Given the description of an element on the screen output the (x, y) to click on. 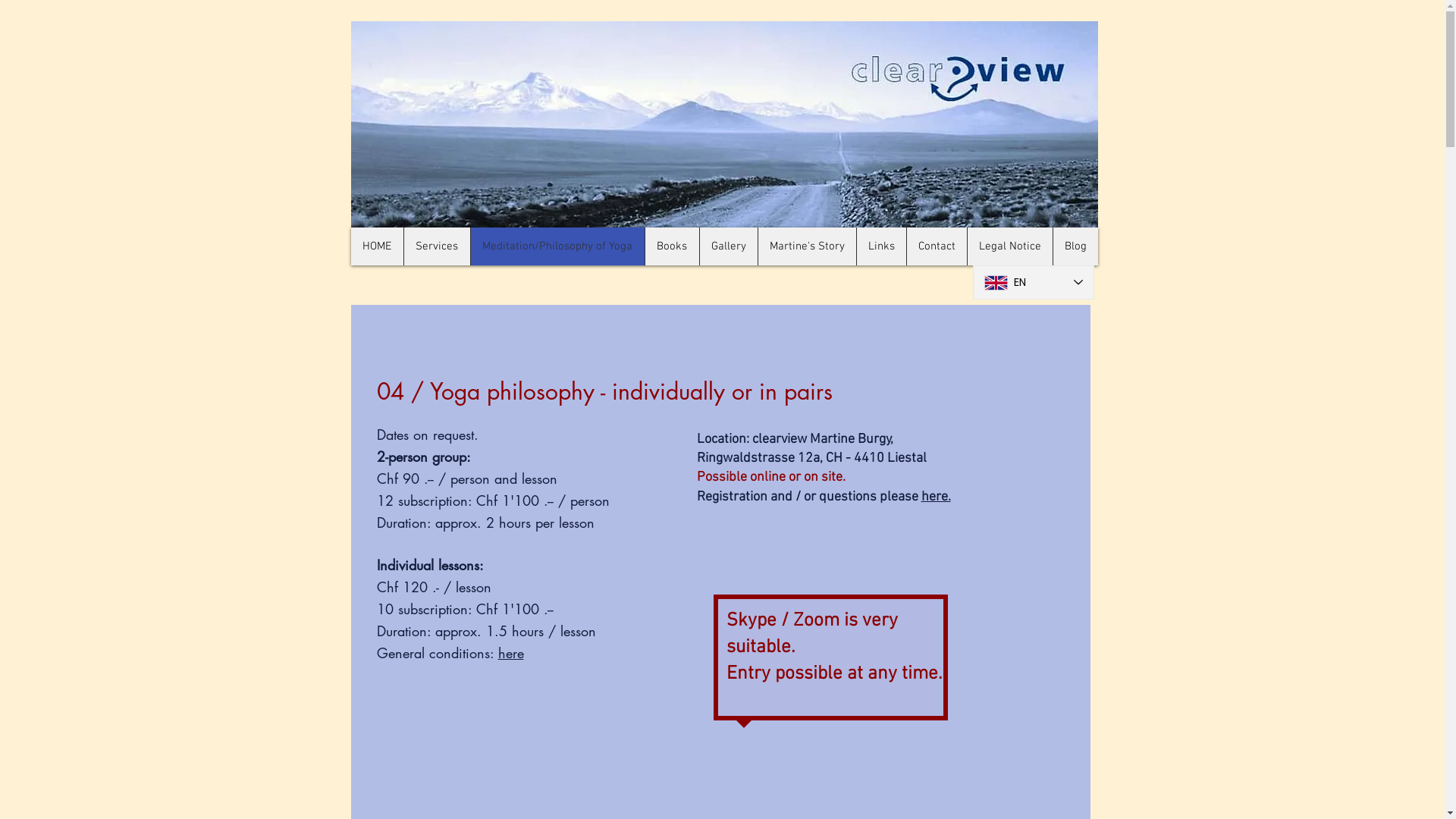
Gallery Element type: text (728, 246)
here. Element type: text (935, 497)
Services Element type: text (436, 246)
Books Element type: text (671, 246)
Legal Notice Element type: text (1008, 246)
Meditation/Philosophy of Yoga Element type: text (557, 246)
Contact Element type: text (935, 246)
Martine's Story Element type: text (805, 246)
Blog Element type: text (1075, 246)
HOME Element type: text (376, 246)
here Element type: text (510, 652)
Links Element type: text (880, 246)
